Given the description of an element on the screen output the (x, y) to click on. 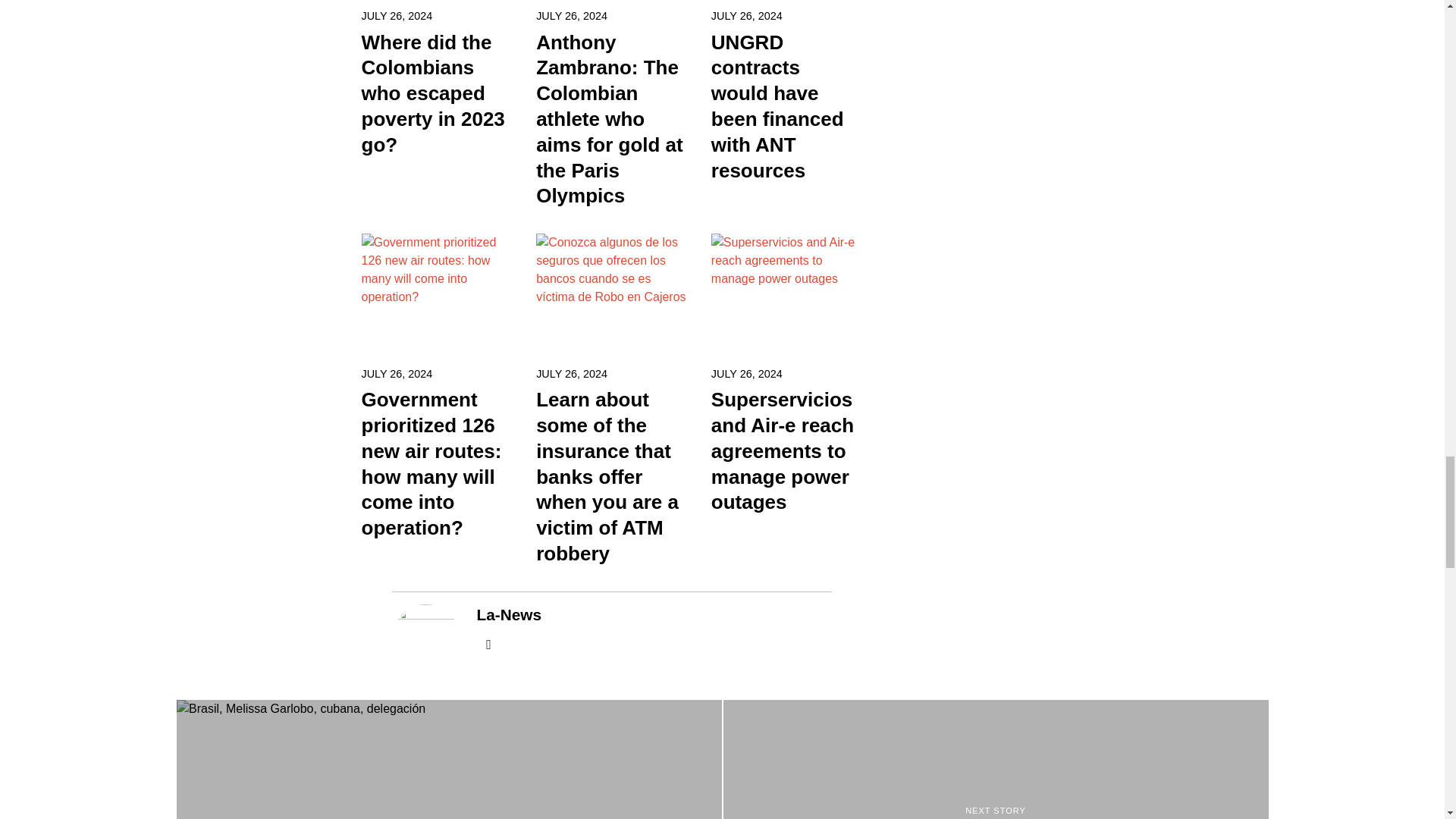
26 Jul, 2024 21:11:19 (747, 15)
26 Jul, 2024 22:08:20 (571, 15)
26 Jul, 2024 20:20:18 (396, 373)
26 Jul, 2024 18:29:15 (747, 373)
26 Jul, 2024 19:01:16 (571, 373)
26 Jul, 2024 23:57:20 (396, 15)
